Given the description of an element on the screen output the (x, y) to click on. 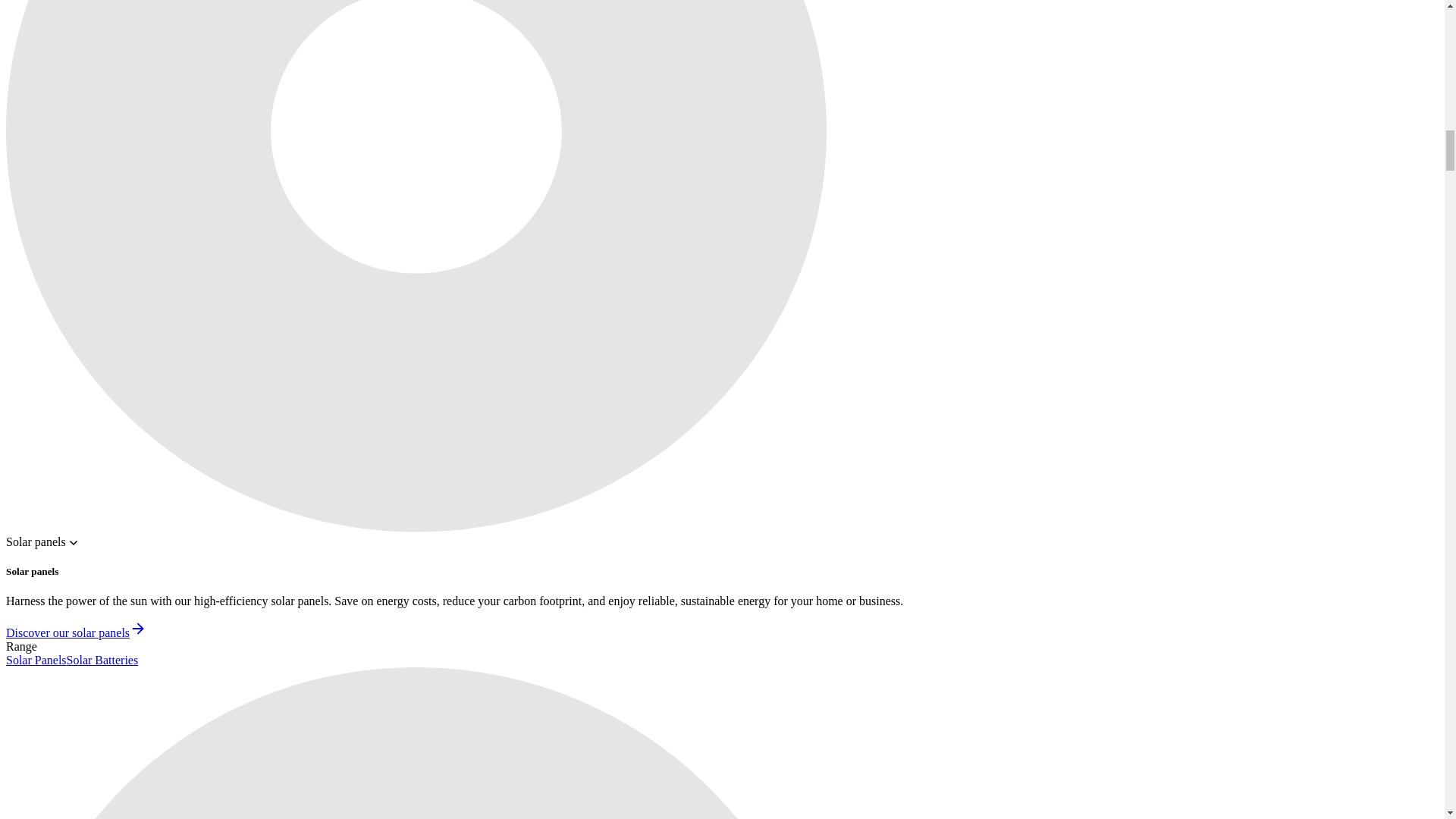
Discover our solar panels (76, 632)
Solar Batteries (102, 659)
Solar Panels (35, 659)
